Given the description of an element on the screen output the (x, y) to click on. 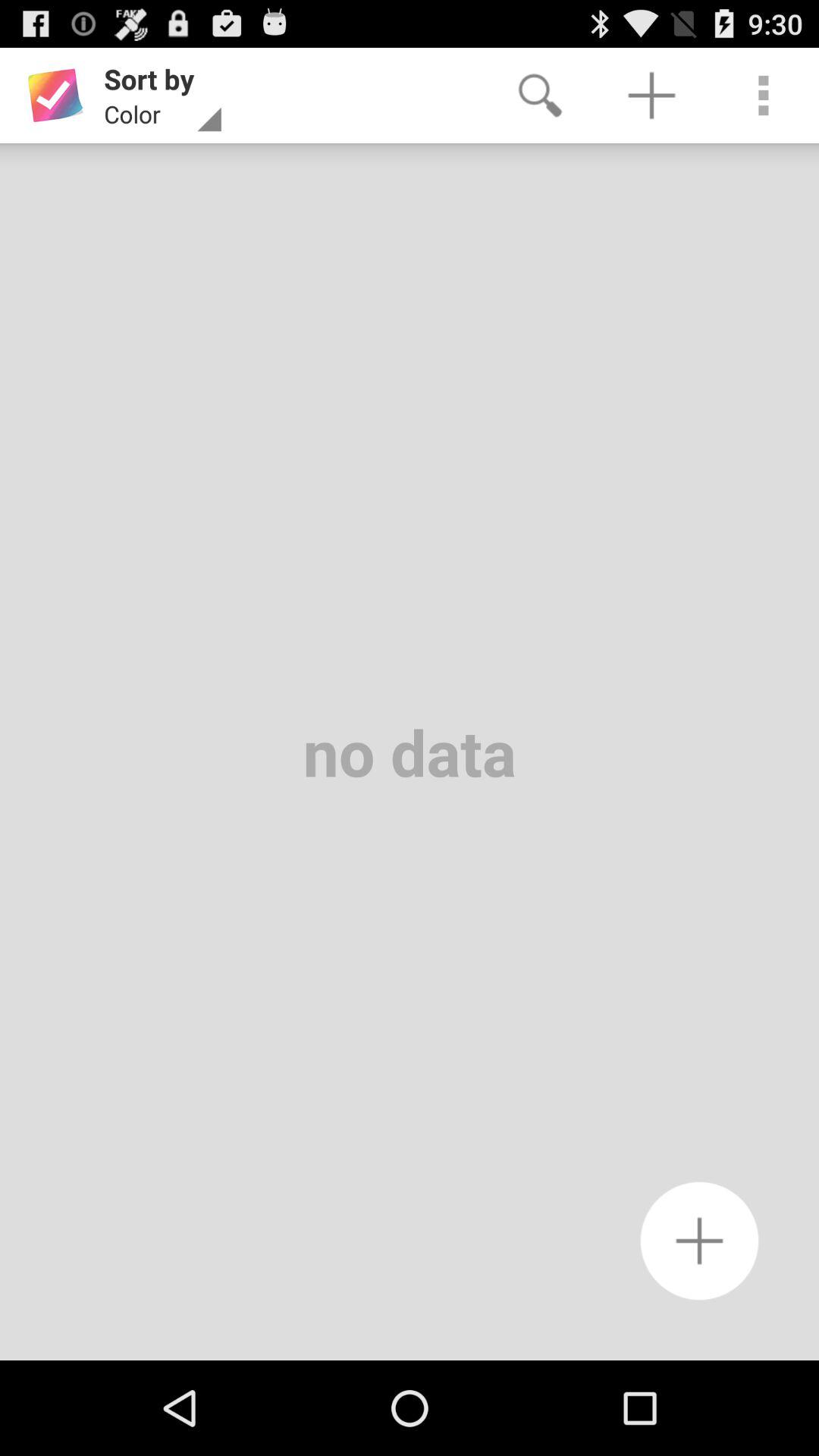
add a page (699, 1240)
